Given the description of an element on the screen output the (x, y) to click on. 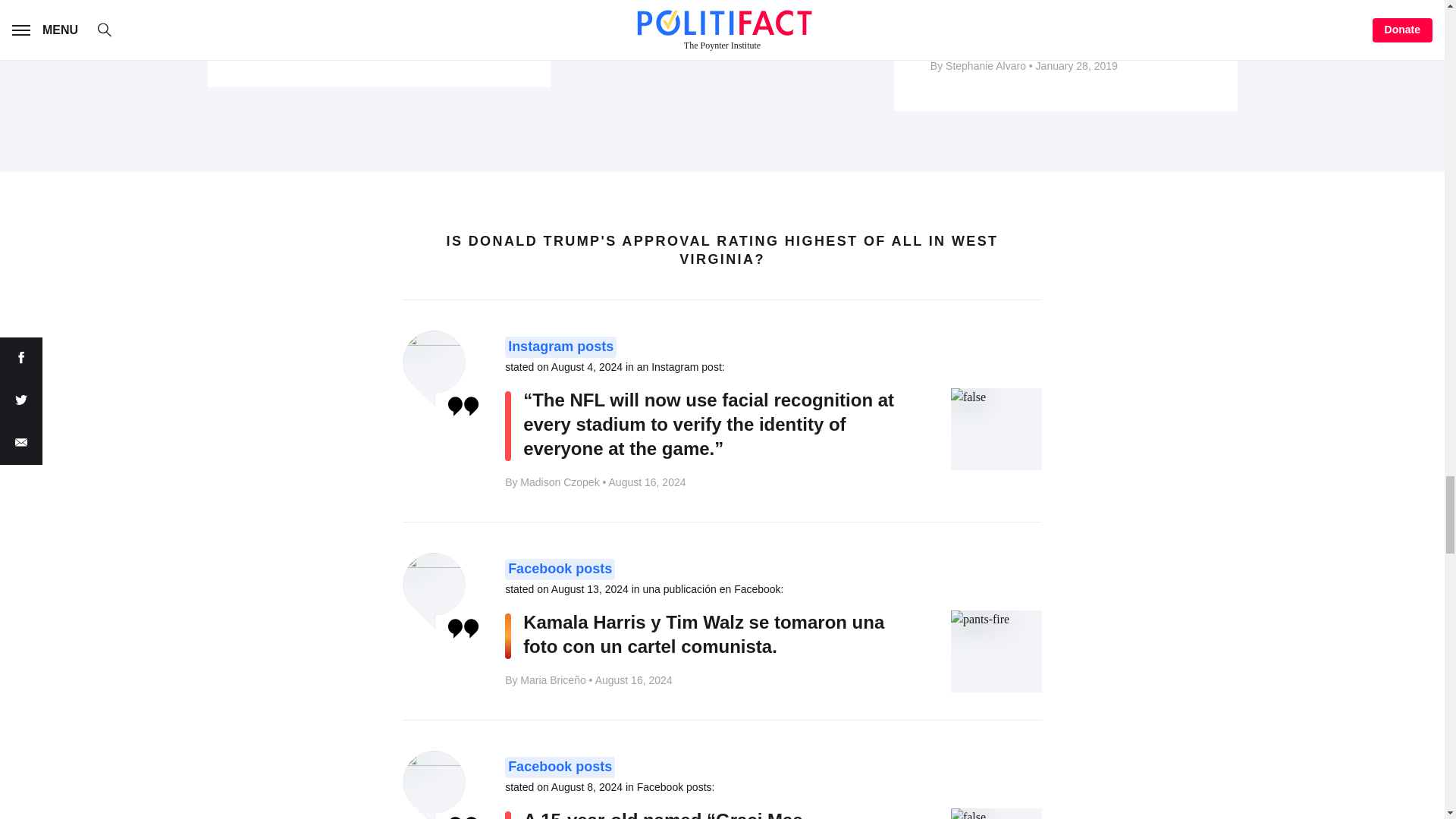
Facebook posts (559, 767)
Facebook posts (559, 568)
Instagram posts (560, 346)
